Given the description of an element on the screen output the (x, y) to click on. 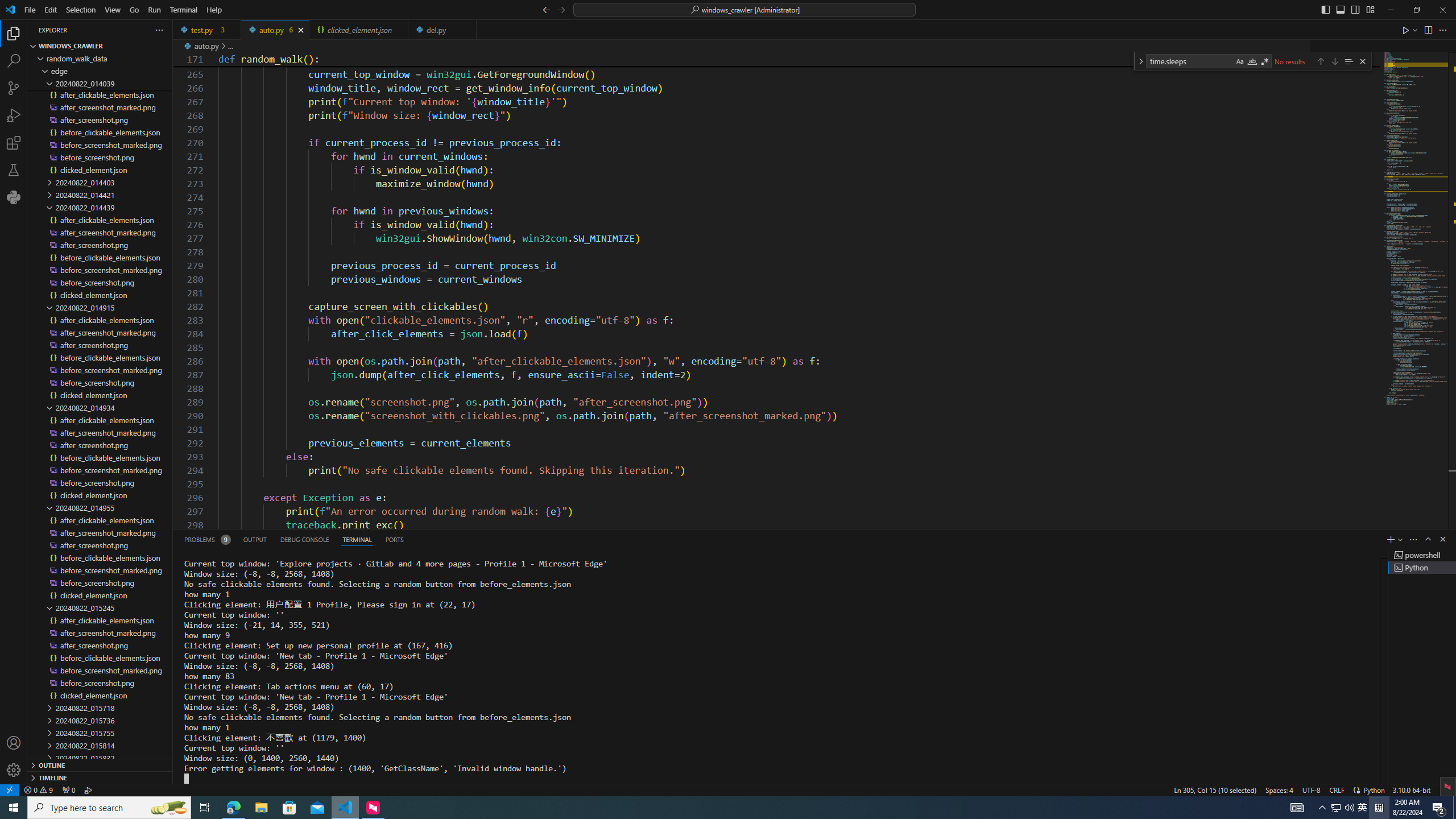
Split Editor Right (Ctrl+\) [Alt] Split Editor Down (1428, 29)
File (30, 9)
Match Whole Word (Alt+W) (1251, 61)
Edit (50, 9)
Close (Escape) (1362, 60)
clicked_element.json, preview (358, 29)
Find (1190, 60)
View (112, 9)
Explorer Section: windows_crawler (99, 46)
Use Regular Expression (Alt+R) (1265, 61)
Editor actions (1425, 29)
Problems (Ctrl+Shift+M) - Total 9 Problems (206, 539)
Go (134, 9)
